Given the description of an element on the screen output the (x, y) to click on. 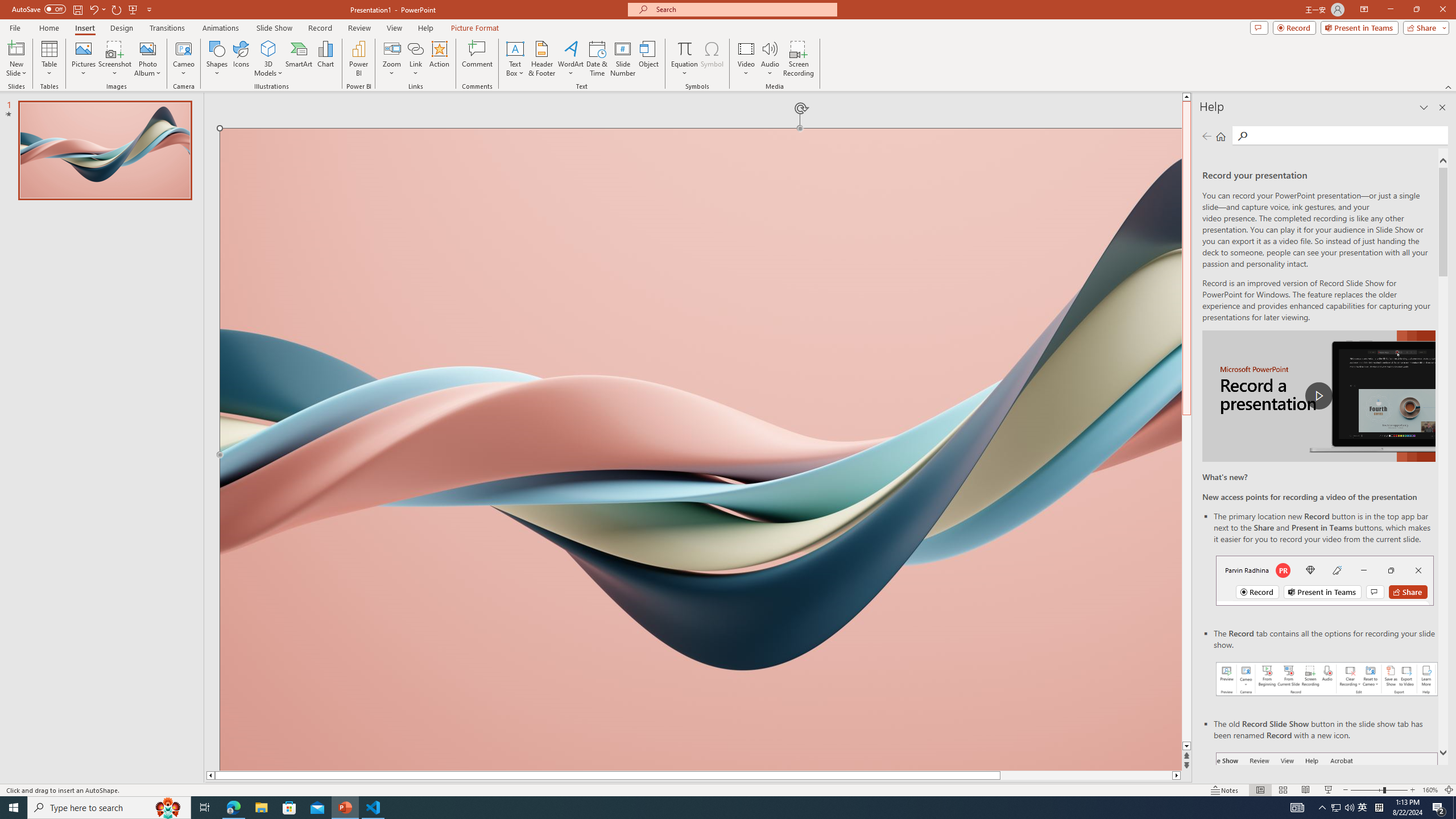
Screen Recording... (798, 58)
Date & Time... (596, 58)
Record button in top bar (1324, 580)
3D Models (268, 48)
SmartArt... (298, 58)
Action (439, 58)
